Given the description of an element on the screen output the (x, y) to click on. 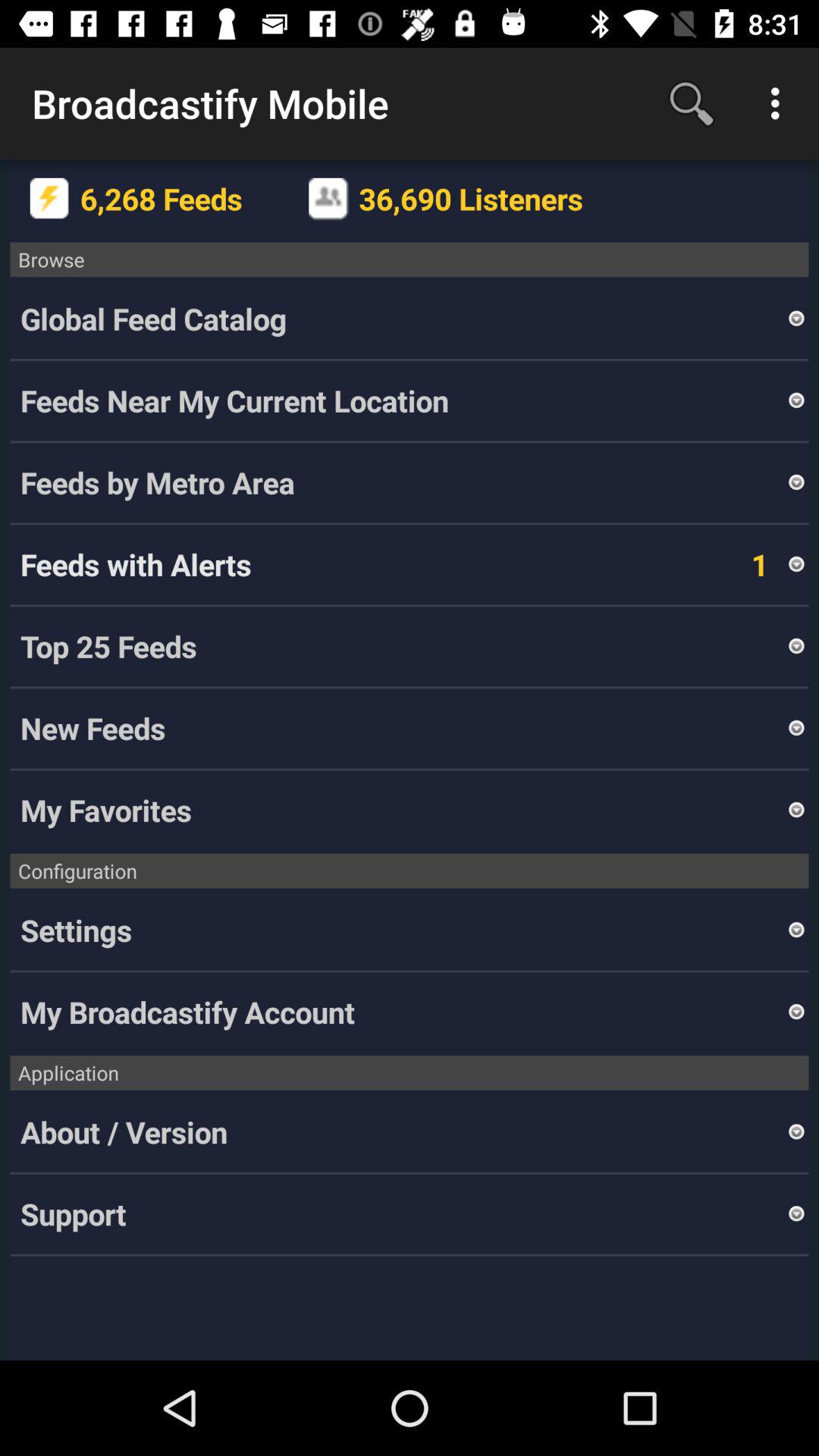
press item below the settings icon (402, 1012)
